Given the description of an element on the screen output the (x, y) to click on. 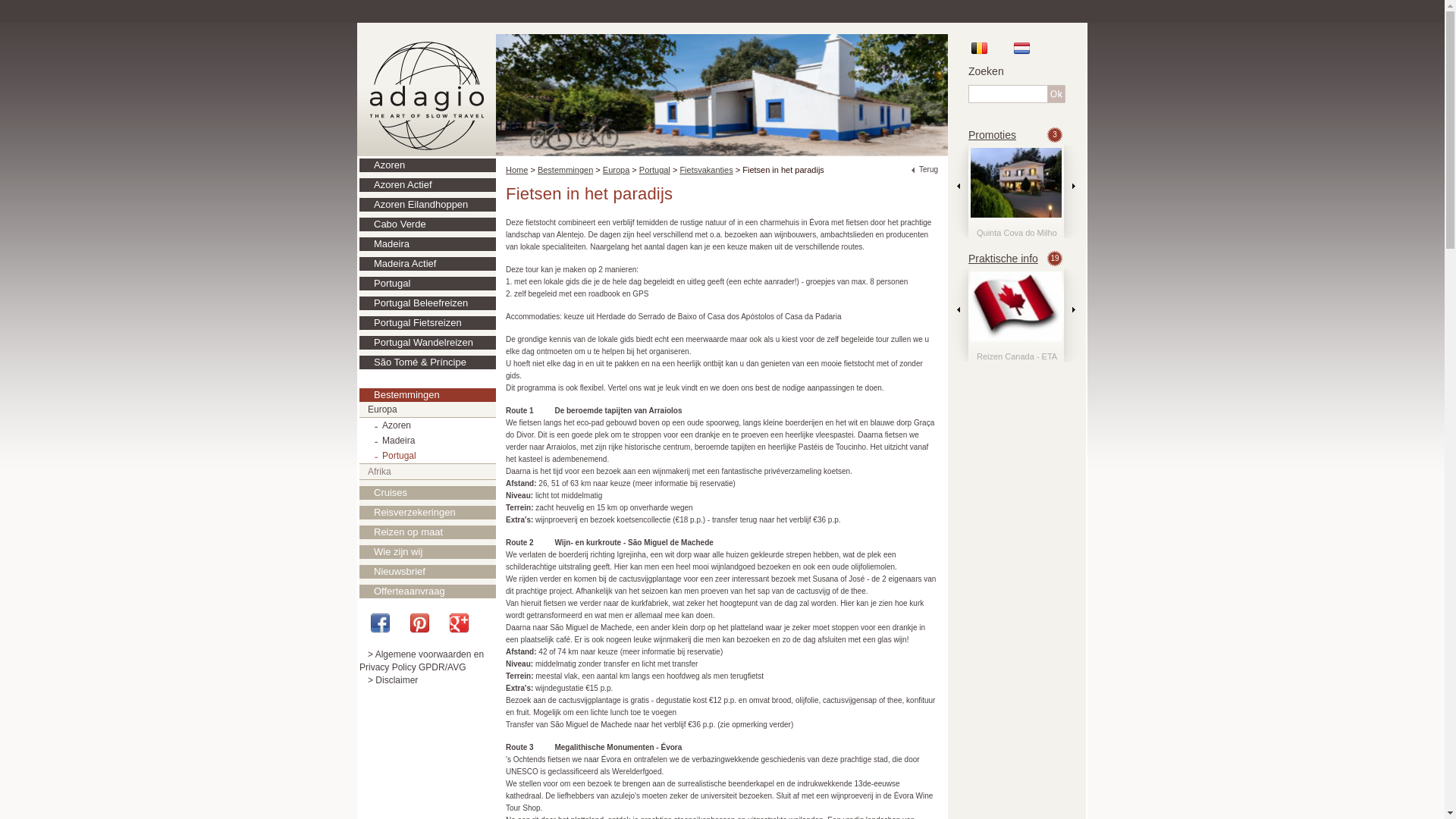
Cabo Verde Element type: text (427, 224)
Facebook Element type: text (387, 622)
Europa Element type: text (427, 409)
Reizen op maat Element type: text (427, 532)
Madeira Element type: text (427, 244)
Azoren Element type: text (427, 165)
> Algemene voorwaarden en Privacy Policy GPDR/AVG Element type: text (421, 660)
Google+ Element type: text (466, 622)
Portugal Fietsreizen Element type: text (427, 322)
Nieuwsbrief Element type: text (427, 571)
Terug Element type: text (924, 169)
Home Element type: text (516, 169)
Azoren Element type: text (427, 425)
Madeira Actief Element type: text (427, 263)
Offerteaanvraag Element type: text (427, 591)
Afrika Element type: text (427, 471)
Quinta Cova do Milho Element type: text (1015, 192)
Portugal Beleefreizen Element type: text (427, 303)
Cruises Element type: text (427, 492)
Bestemmingen Element type: text (565, 169)
Wie zijn wij Element type: text (427, 551)
Portugal Element type: text (427, 455)
Promoties Element type: text (992, 134)
Madeira Element type: text (427, 440)
Europa Element type: text (615, 169)
Portugal Wandelreizen Element type: text (427, 342)
Fietsvakanties Element type: text (705, 169)
Praktische info Element type: text (1003, 258)
> Disclaimer Element type: text (388, 679)
Azoren Eilandhoppen Element type: text (427, 204)
Vaccinaties Element type: text (1015, 316)
Portugal Element type: text (427, 283)
Portugal Element type: text (654, 169)
Azoren Actief Element type: text (427, 184)
Pinterest Element type: text (426, 622)
Reisverzekeringen Element type: text (427, 512)
Bestemmingen Element type: text (427, 394)
